Given the description of an element on the screen output the (x, y) to click on. 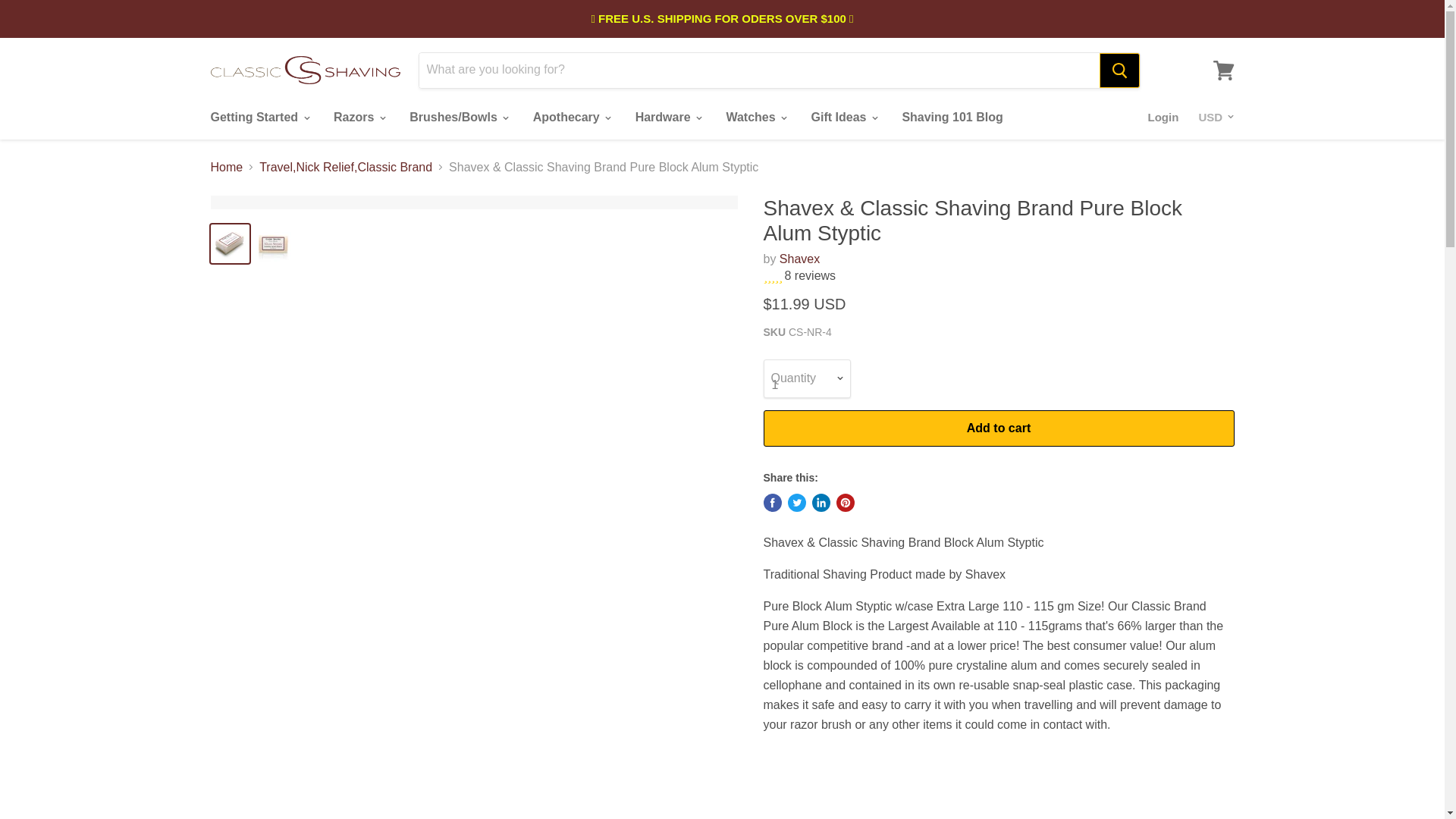
View cart (1223, 70)
Getting Started (258, 117)
Razors (357, 117)
Shavex (798, 258)
